Given the description of an element on the screen output the (x, y) to click on. 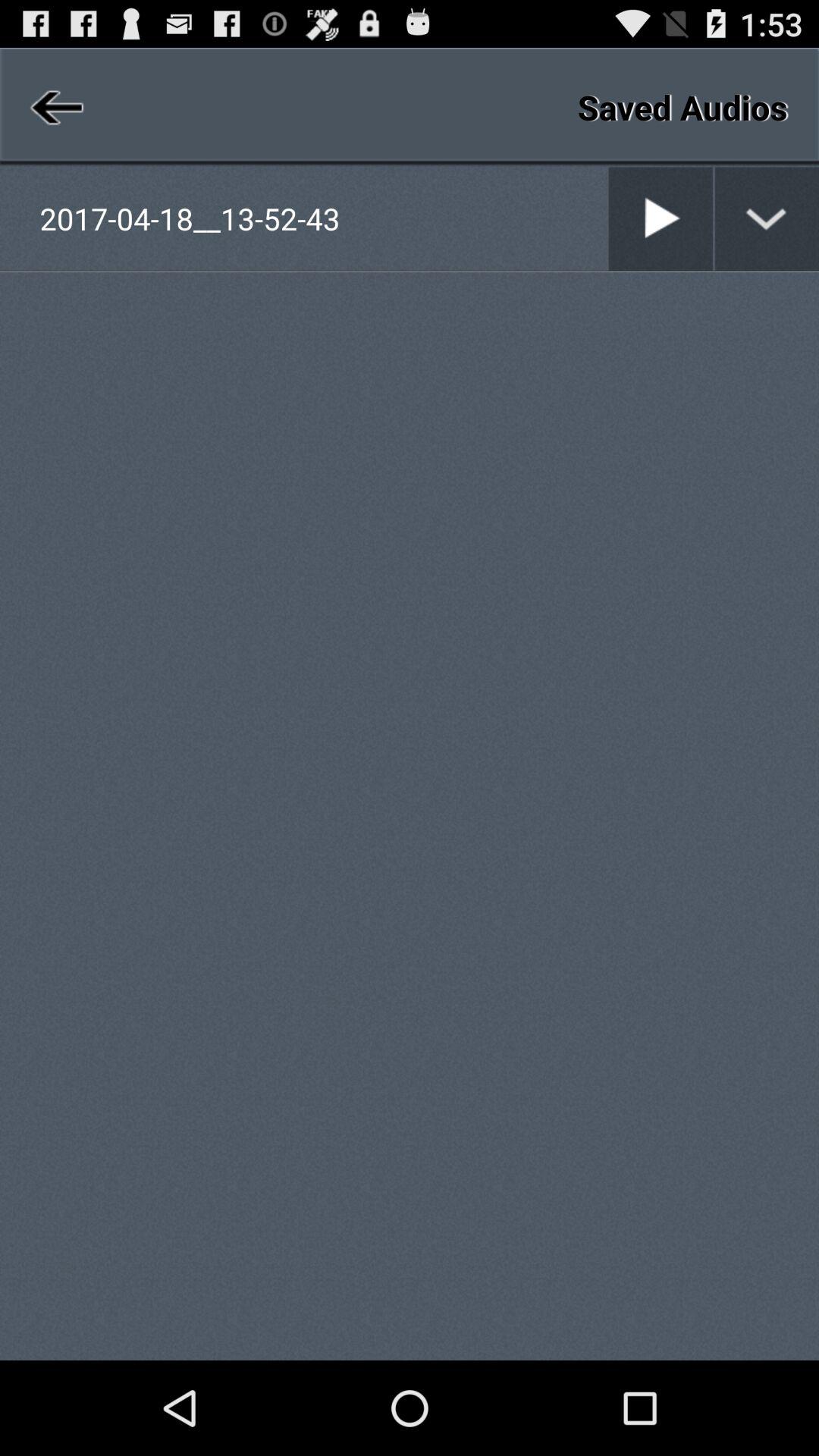
launch the app below saved audios (608, 218)
